Given the description of an element on the screen output the (x, y) to click on. 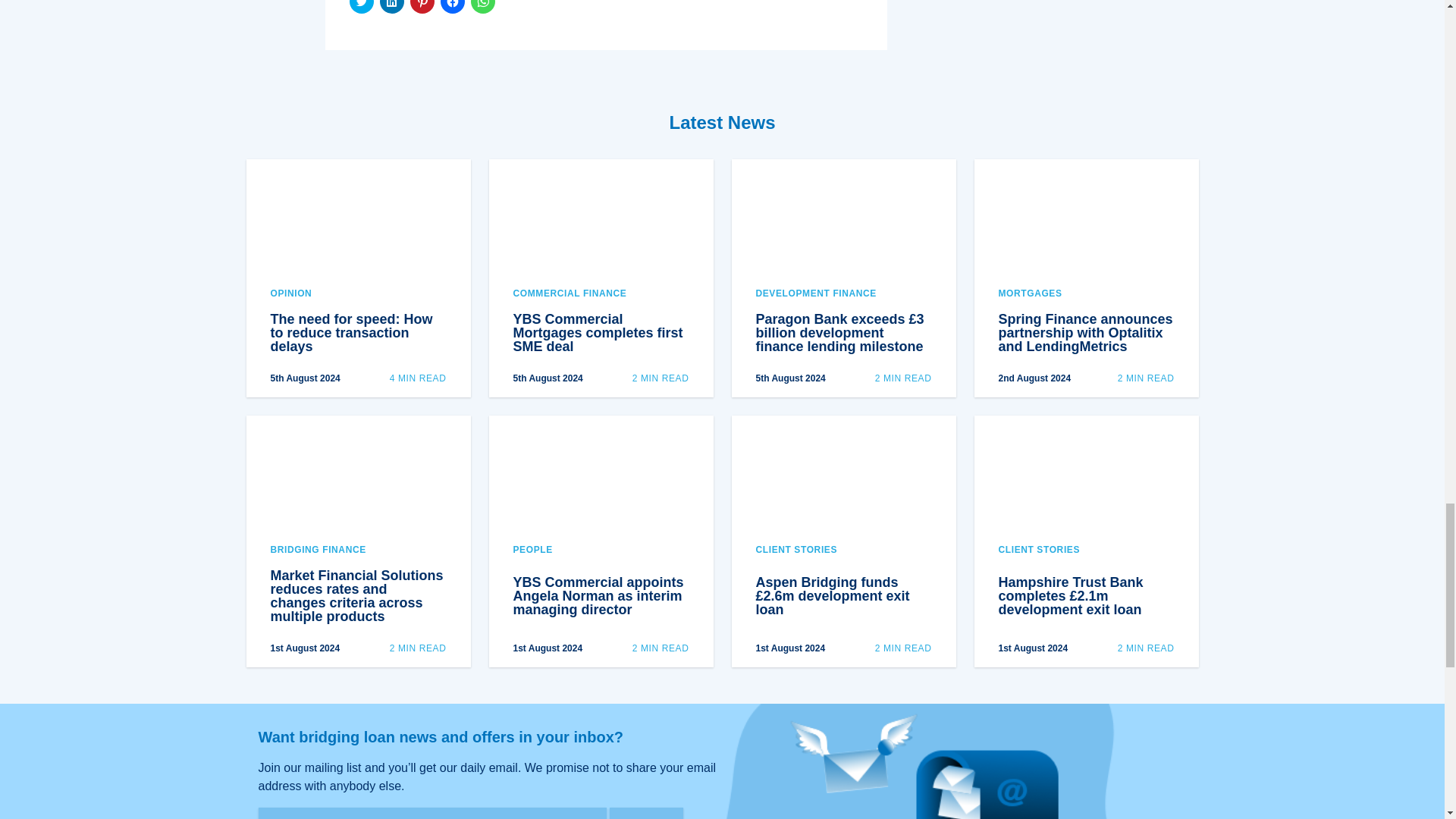
Click to share on Facebook (451, 6)
Click to share on Pinterest (421, 6)
Click to share on Twitter (360, 6)
Click to share on LinkedIn (390, 6)
Click to share on WhatsApp (482, 6)
